Given the description of an element on the screen output the (x, y) to click on. 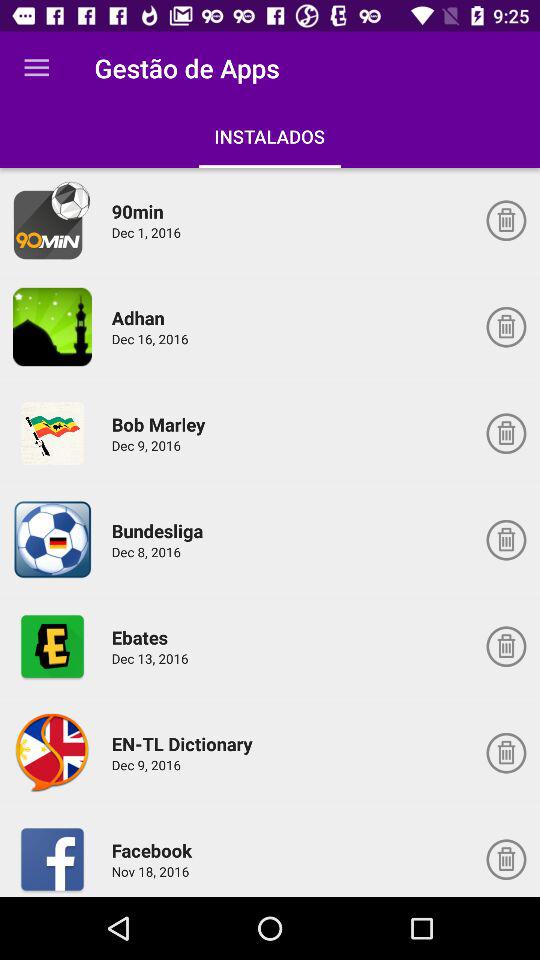
trash option for app (505, 220)
